Given the description of an element on the screen output the (x, y) to click on. 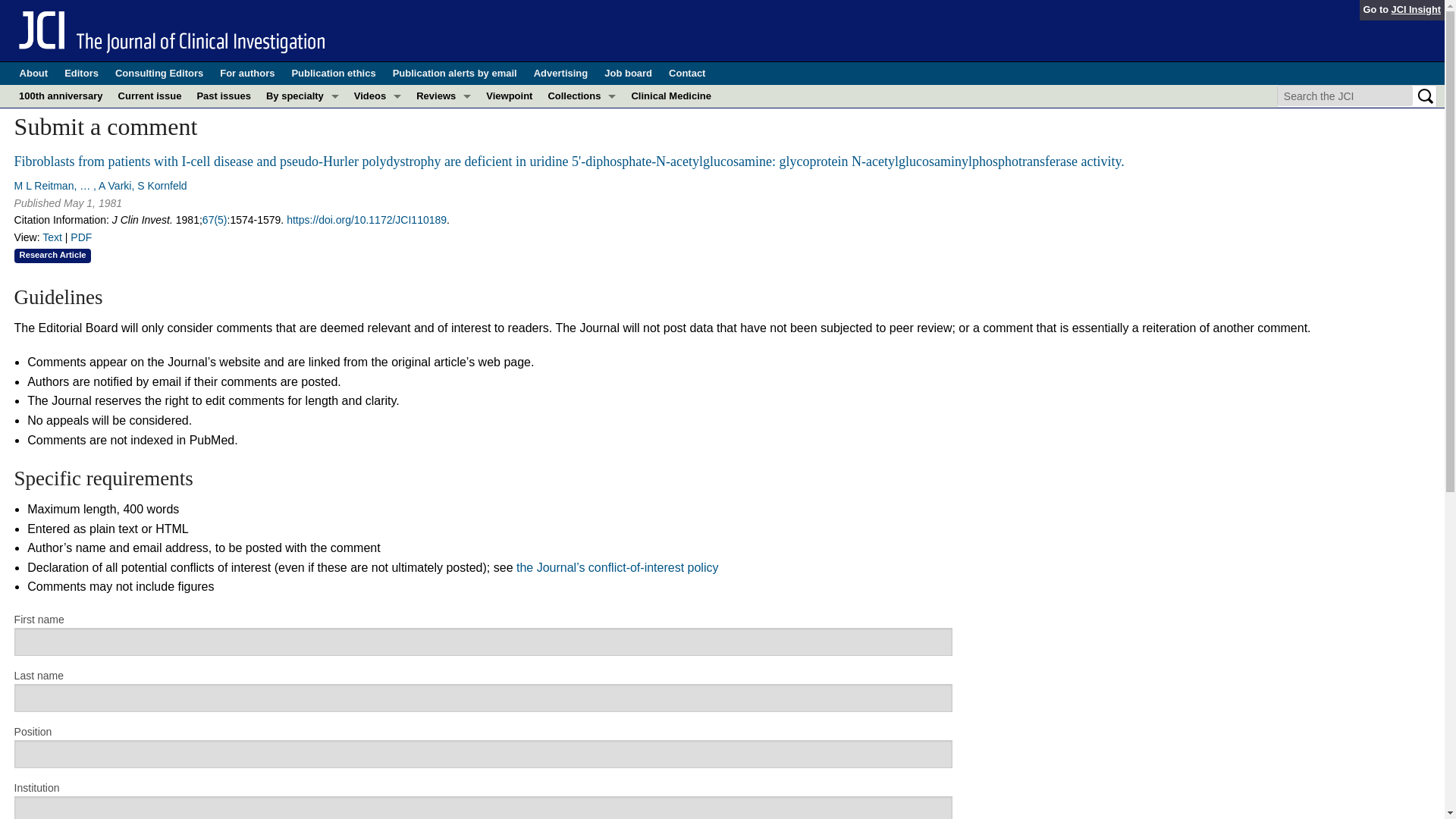
100th anniversary (60, 96)
About (34, 73)
Oncology (302, 277)
Current issue (149, 96)
For authors (247, 73)
View all reviews ... (444, 137)
Immunology (302, 187)
Editors (81, 73)
Videos (377, 96)
Publication ethics (333, 73)
All ... (302, 345)
Gastroenterology (302, 164)
Nephrology (302, 232)
Vascular biology (302, 323)
Job board (628, 73)
